Given the description of an element on the screen output the (x, y) to click on. 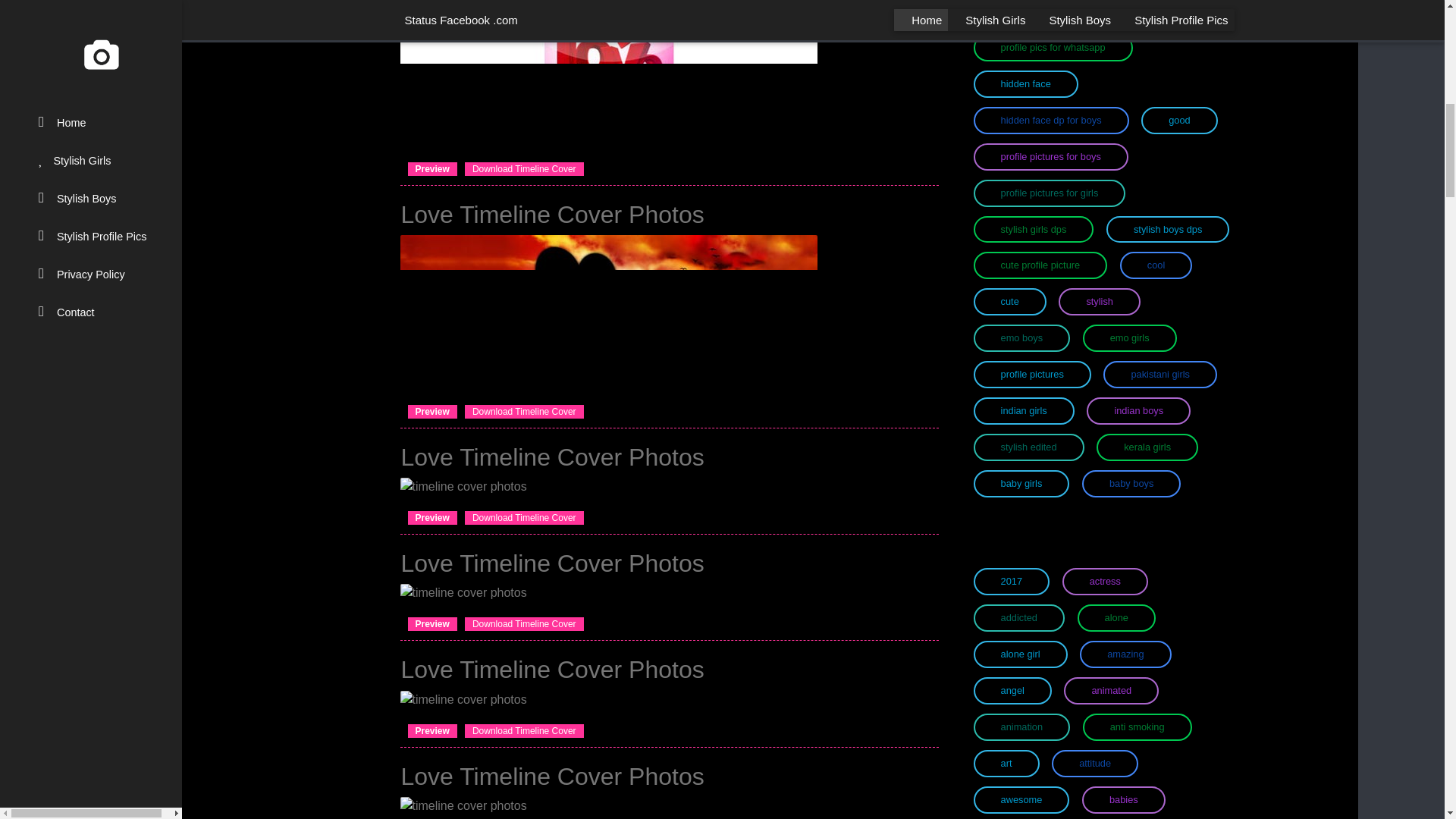
download cover photo (432, 169)
download cover photo (432, 730)
download cover photo (432, 517)
download cover photo (432, 411)
download cover photo (432, 623)
tamil dp profile pictures quotes for whatsapp facebook (1011, 12)
stylish profile pictures dp for whatsapp, facebook (1119, 12)
